Given the description of an element on the screen output the (x, y) to click on. 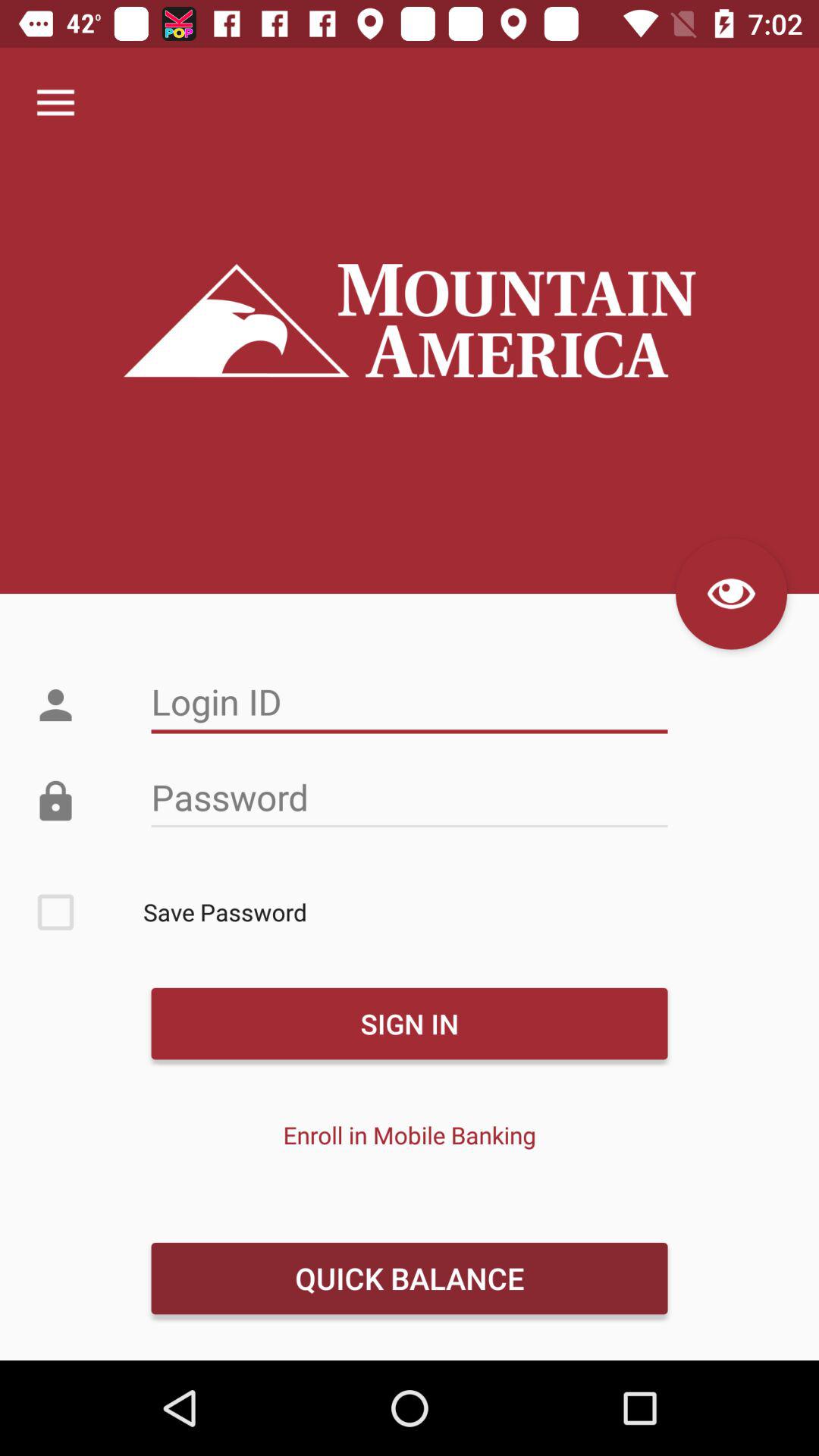
scroll until the sign in (409, 1023)
